Given the description of an element on the screen output the (x, y) to click on. 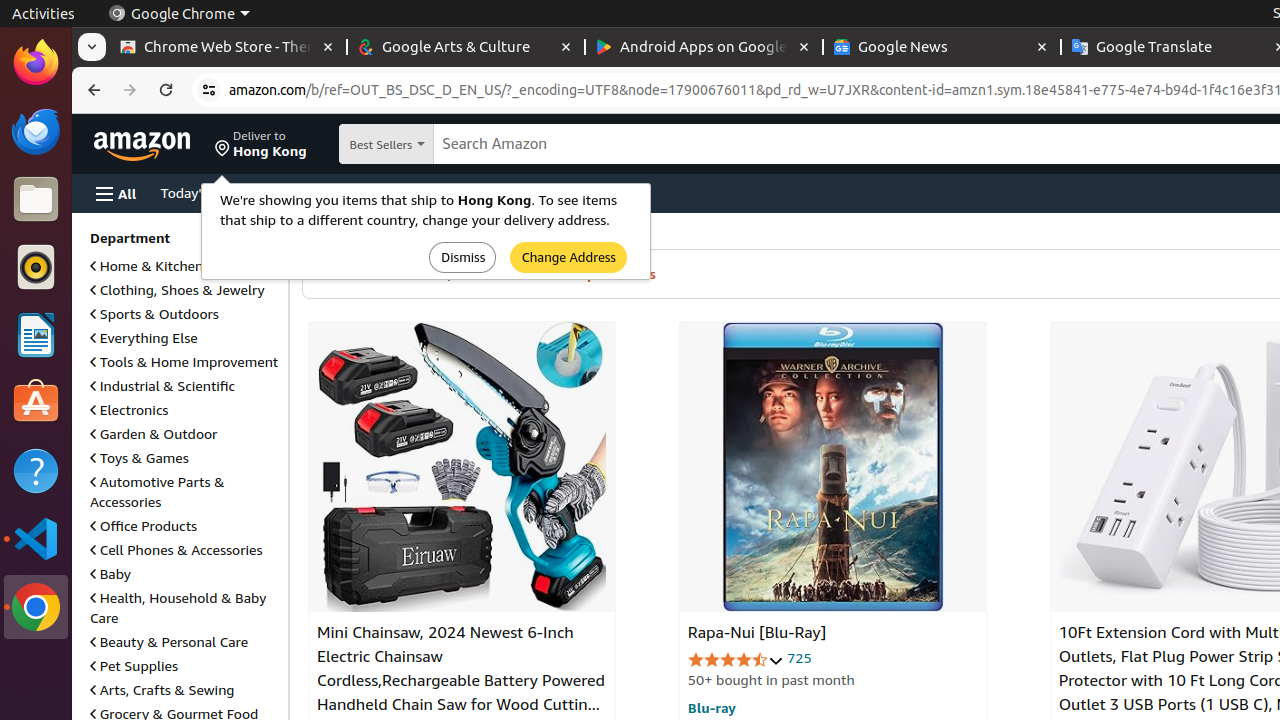
Office Products Element type: link (144, 525)
LibreOffice Writer Element type: push-button (36, 334)
Everything Else Element type: link (144, 337)
Ubuntu Software Element type: push-button (36, 402)
Health, Household & Baby Care Element type: link (178, 607)
